Given the description of an element on the screen output the (x, y) to click on. 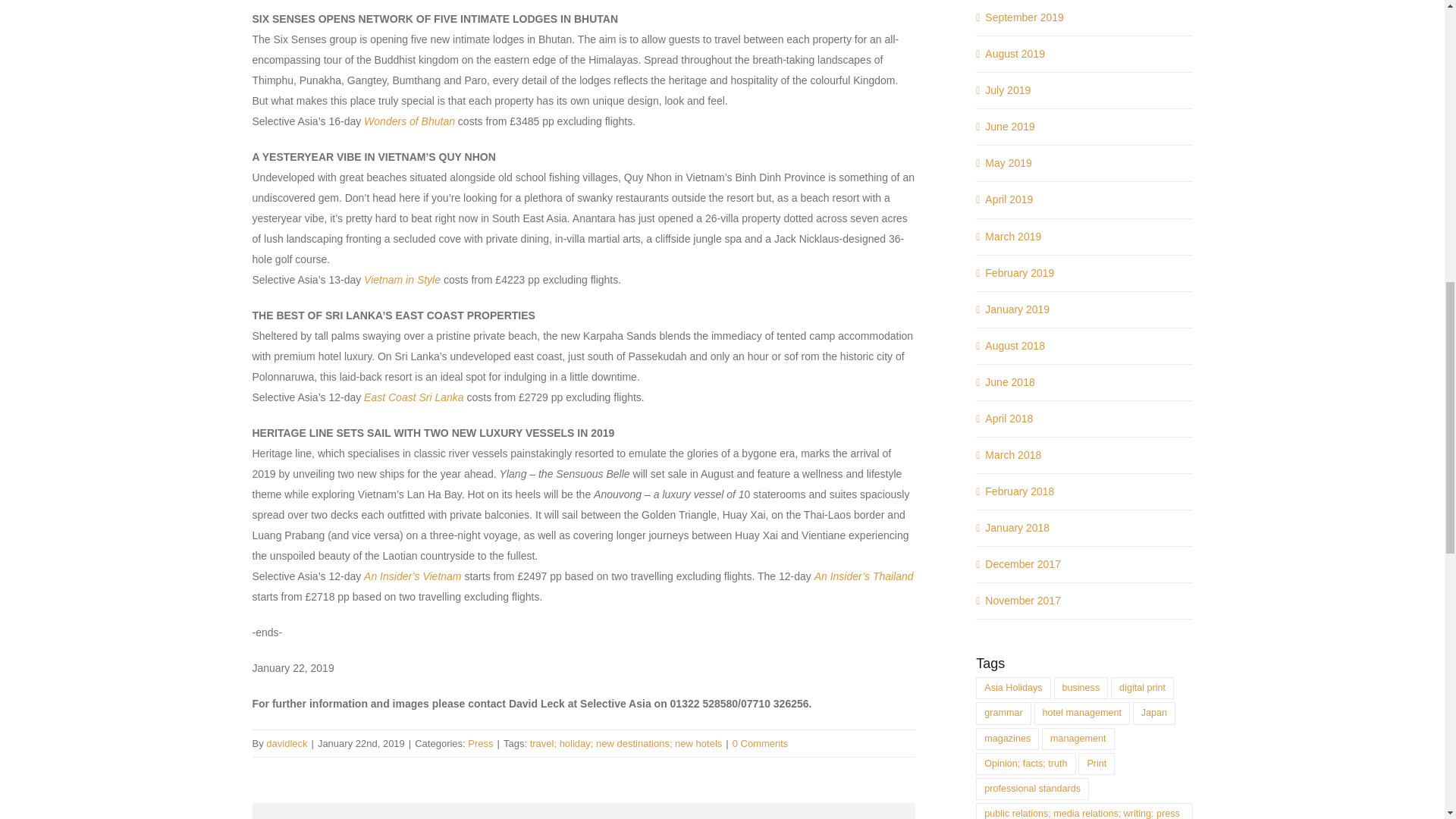
0 Comments (760, 743)
davidleck (286, 743)
Vietnam in Style (402, 279)
travel; holiday; new destinations; new hotels (625, 743)
Press (480, 743)
Posts by davidleck (286, 743)
Wonders of Bhutan (409, 121)
East Coast Sri Lanka (414, 397)
